Given the description of an element on the screen output the (x, y) to click on. 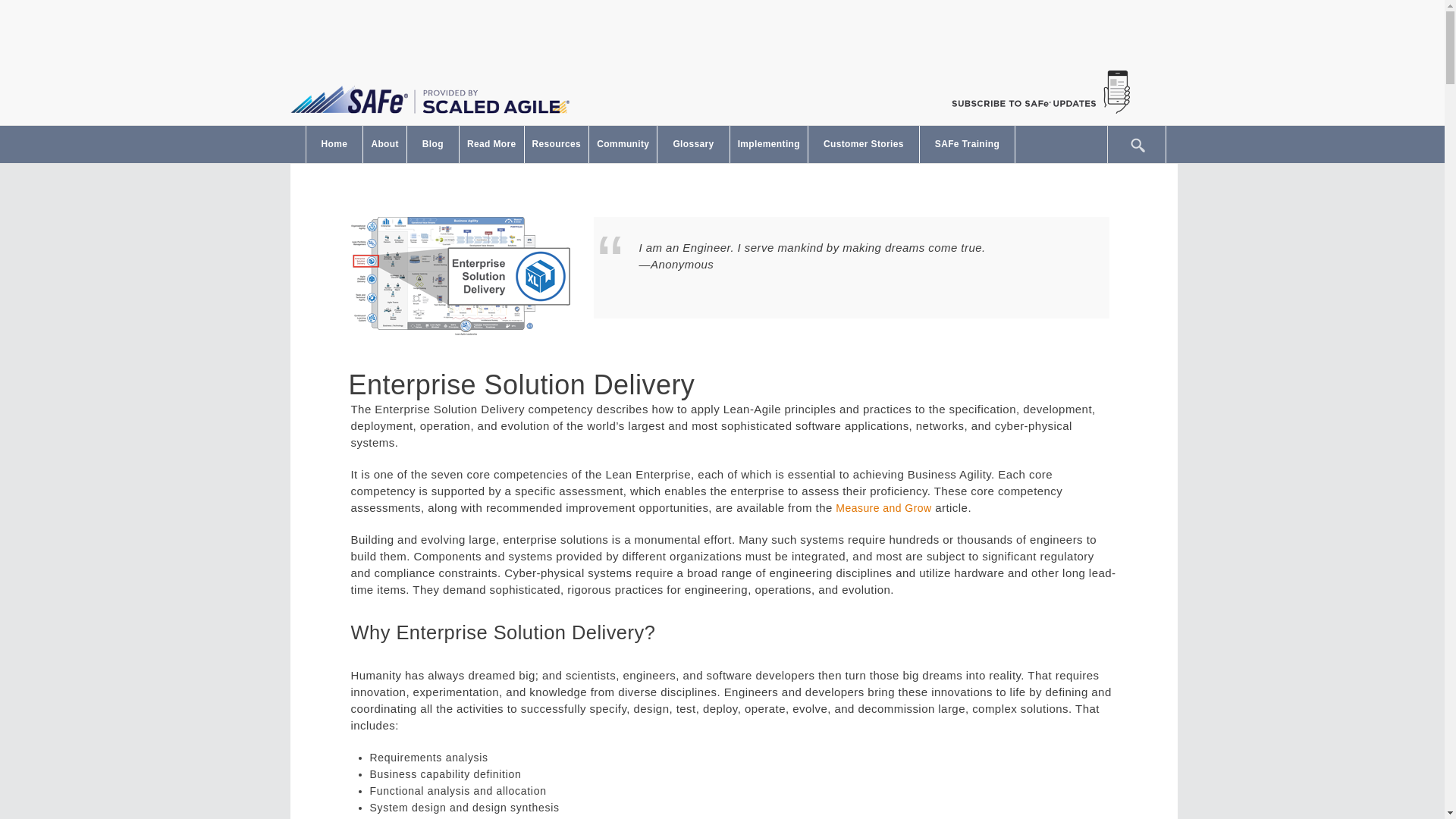
SAFe Training (967, 144)
Blog (432, 144)
Resources (556, 144)
Implementing (769, 144)
Home (333, 144)
About (384, 144)
Glossary (693, 144)
Read More (492, 144)
Community (622, 144)
Customer Stories (863, 144)
